Given the description of an element on the screen output the (x, y) to click on. 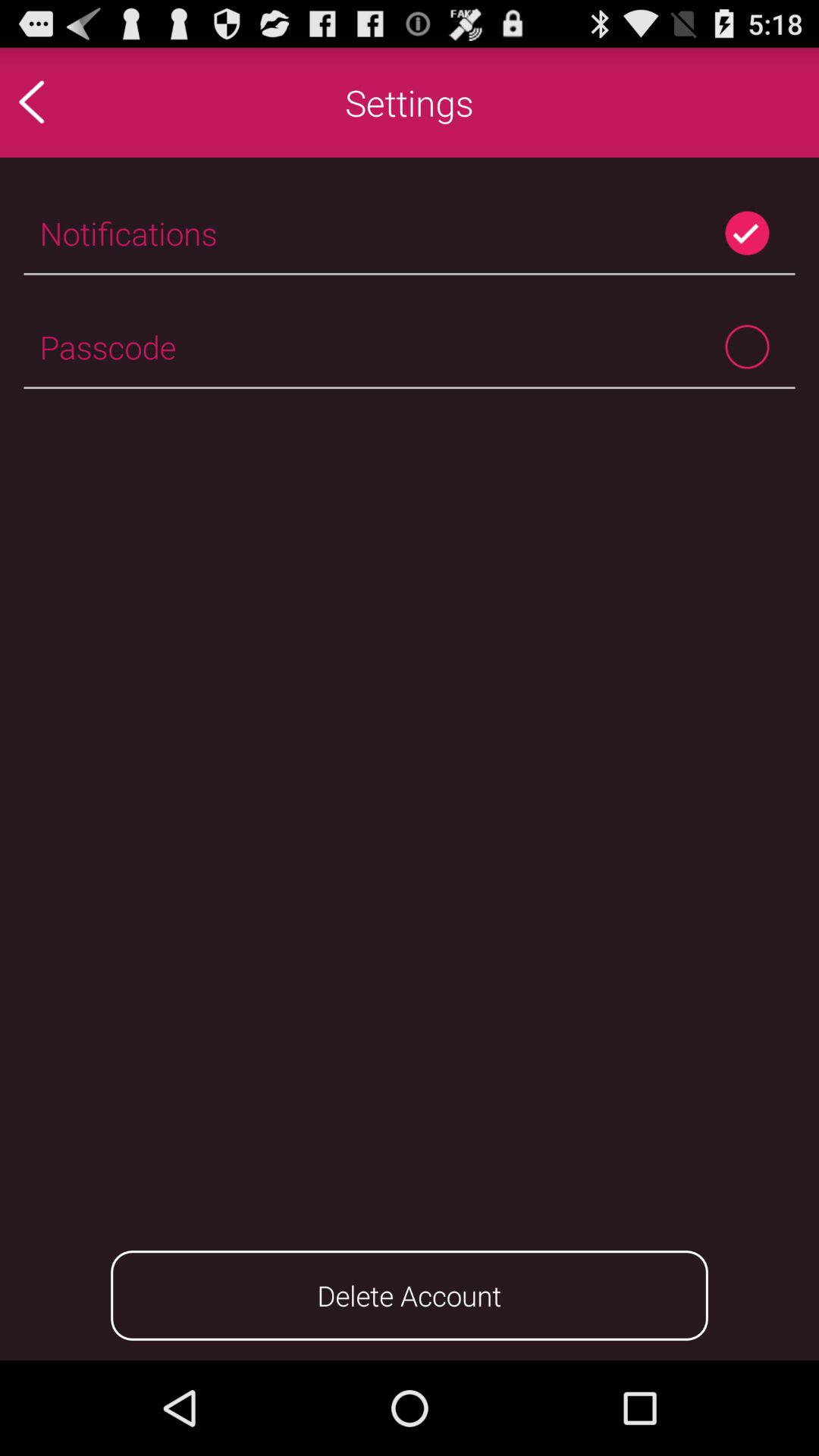
passcode toggle option (747, 346)
